Given the description of an element on the screen output the (x, y) to click on. 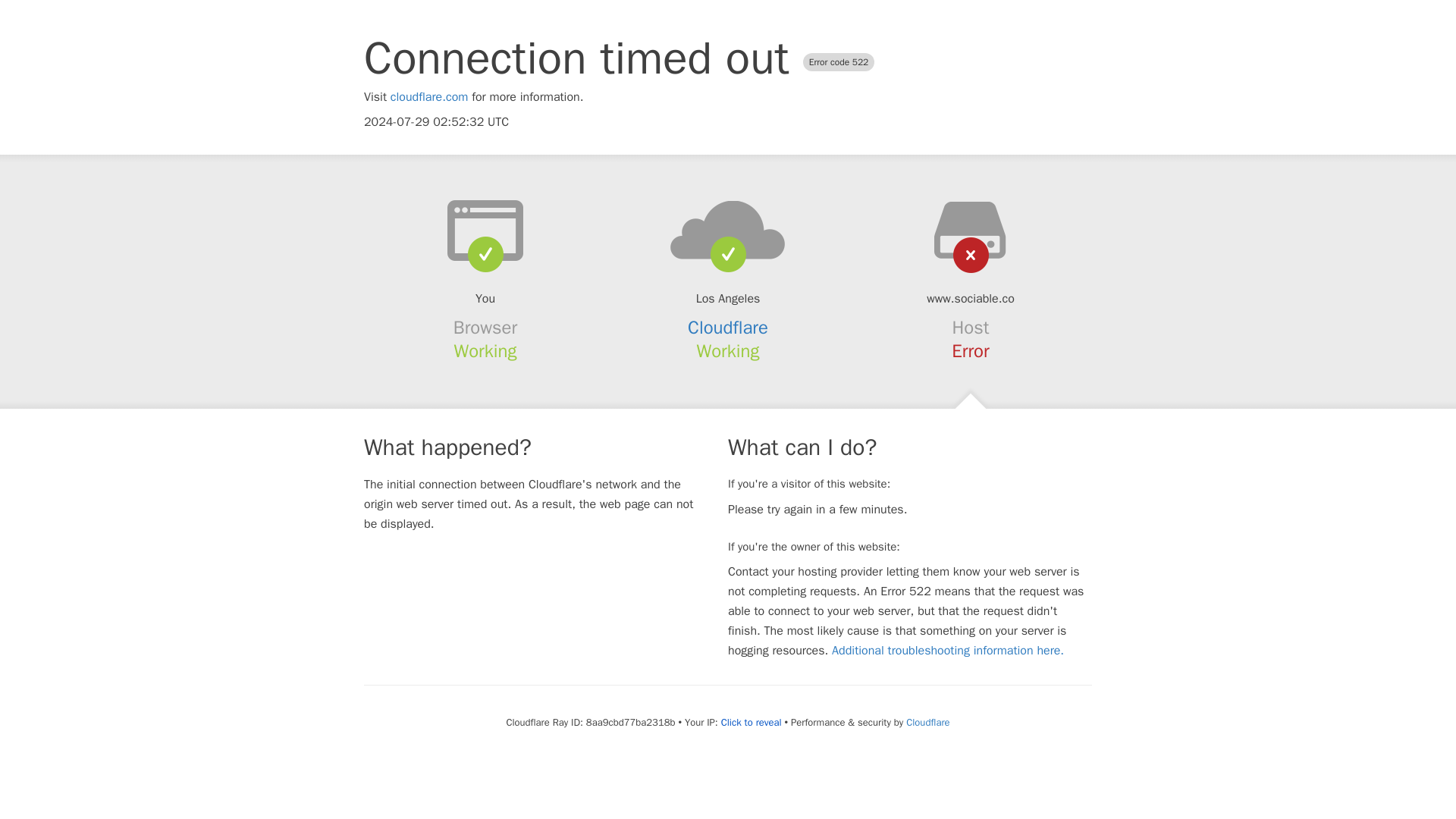
Additional troubleshooting information here. (947, 650)
Cloudflare (727, 327)
cloudflare.com (429, 96)
Click to reveal (750, 722)
Cloudflare (927, 721)
